Given the description of an element on the screen output the (x, y) to click on. 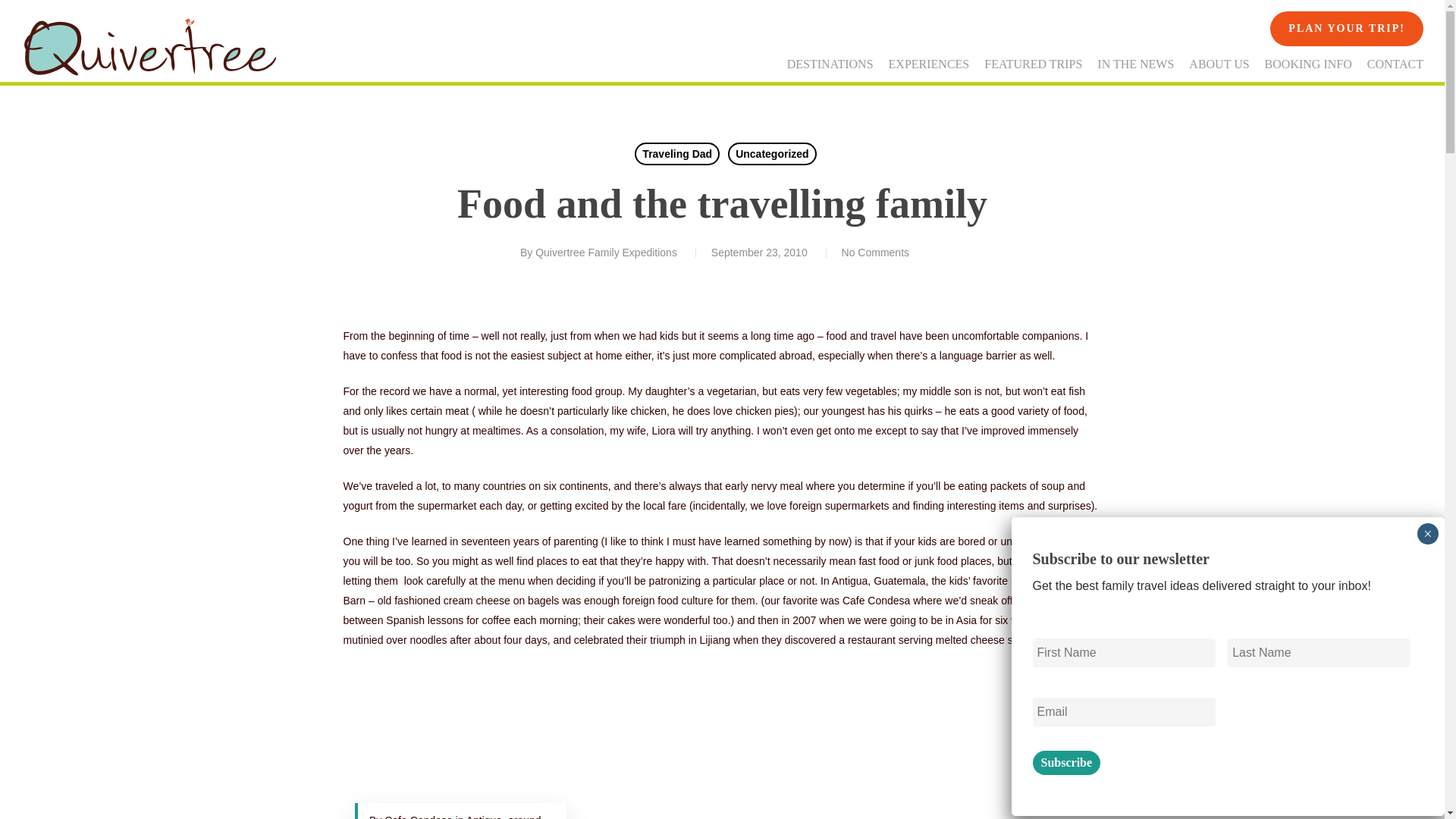
PLAN YOUR TRIP! (1346, 28)
P1040488 (460, 742)
Subscribe (1066, 762)
DESTINATIONS (830, 64)
Posts by Quivertree Family Expeditions (606, 252)
